Given the description of an element on the screen output the (x, y) to click on. 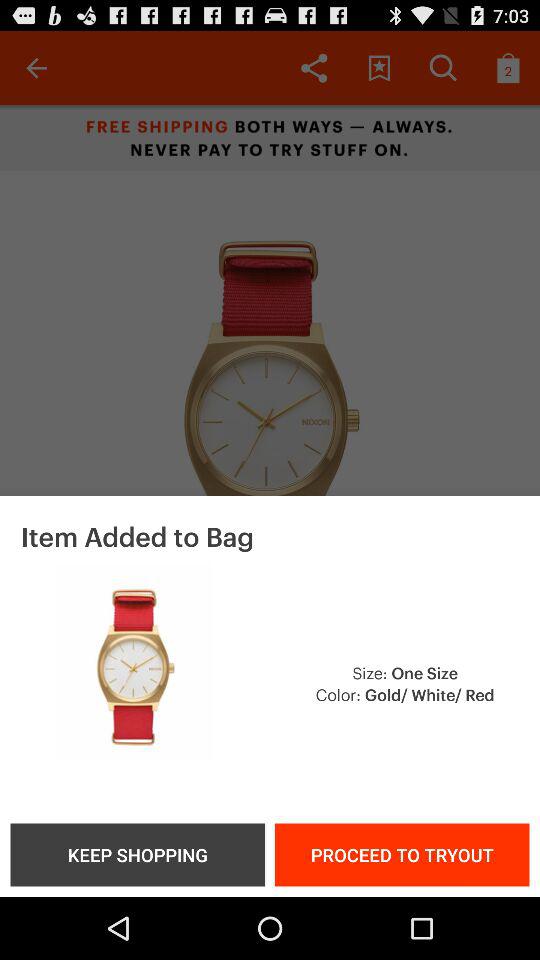
launch item next to the keep shopping (402, 854)
